Given the description of an element on the screen output the (x, y) to click on. 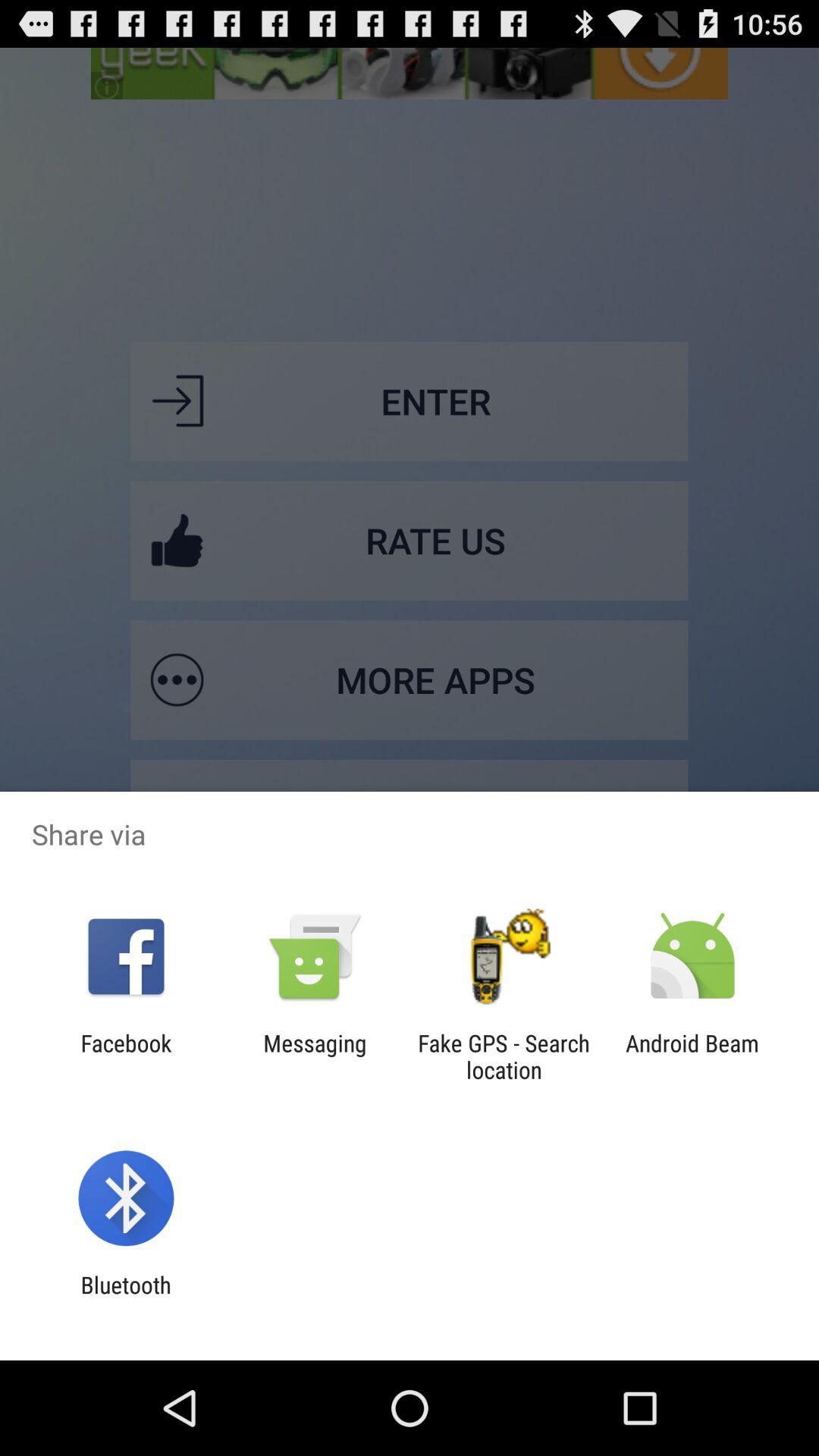
press the icon to the right of the messaging icon (503, 1056)
